Given the description of an element on the screen output the (x, y) to click on. 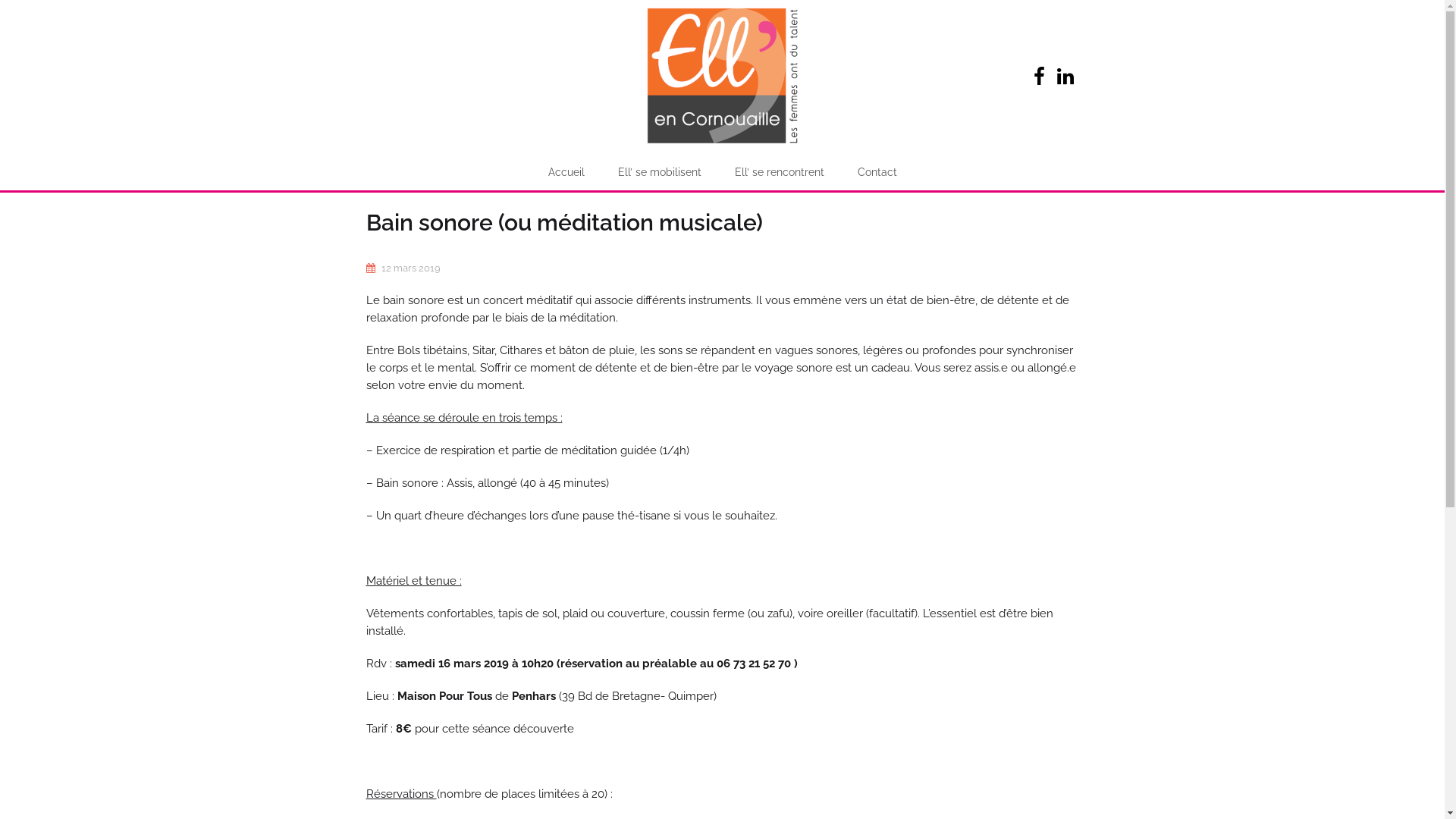
Contact Element type: text (876, 171)
Accueil Element type: text (565, 171)
